Given the description of an element on the screen output the (x, y) to click on. 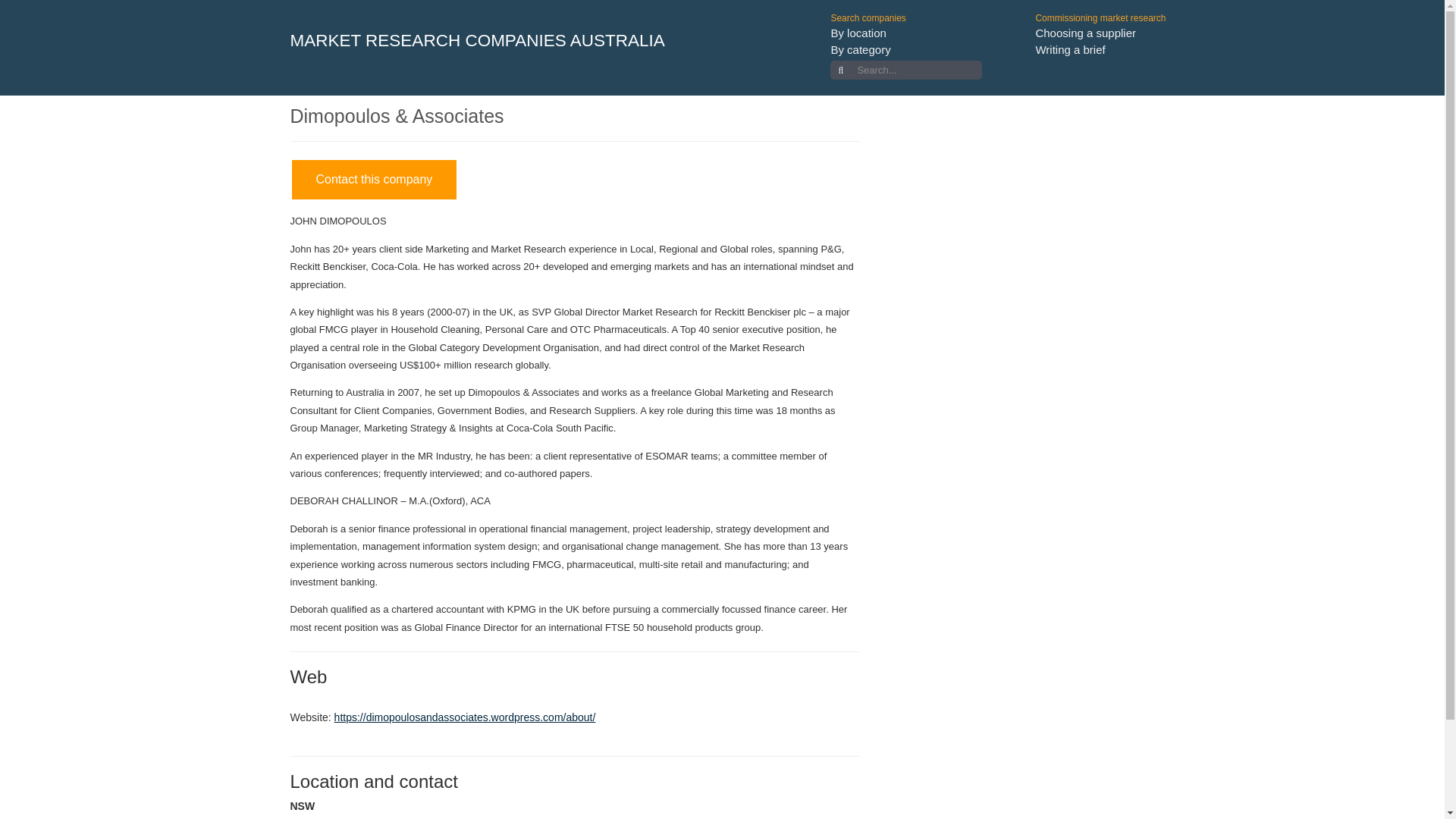
Choosing a supplier (1085, 32)
By category (859, 49)
By location (857, 32)
Writing a brief (1070, 49)
MARKET RESEARCH COMPANIES AUSTRALIA (478, 30)
Contact this company (374, 178)
